Given the description of an element on the screen output the (x, y) to click on. 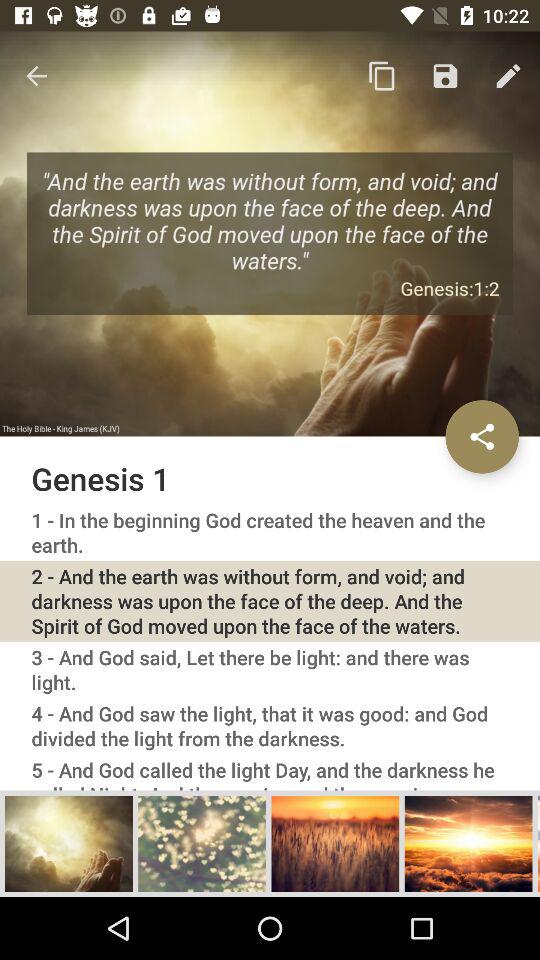
scroll to the 1 in the item (270, 532)
